Given the description of an element on the screen output the (x, y) to click on. 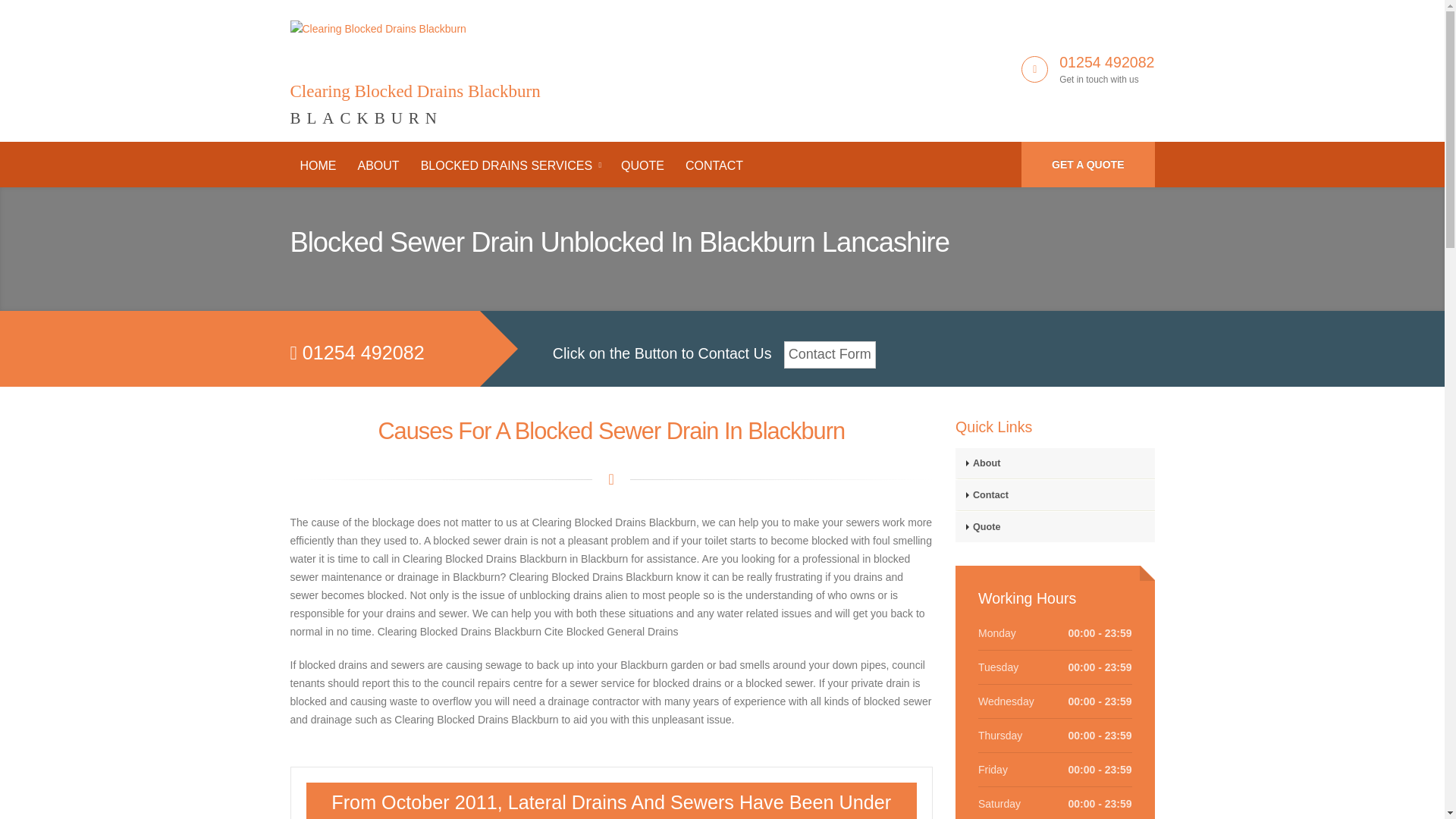
CONTACT (713, 165)
Contact Form (830, 354)
HOME (414, 65)
Quote (317, 165)
About (1054, 526)
GET A QUOTE (1054, 463)
BLOCKED DRAINS SERVICES (1088, 164)
QUOTE (510, 165)
ABOUT (642, 165)
